Given the description of an element on the screen output the (x, y) to click on. 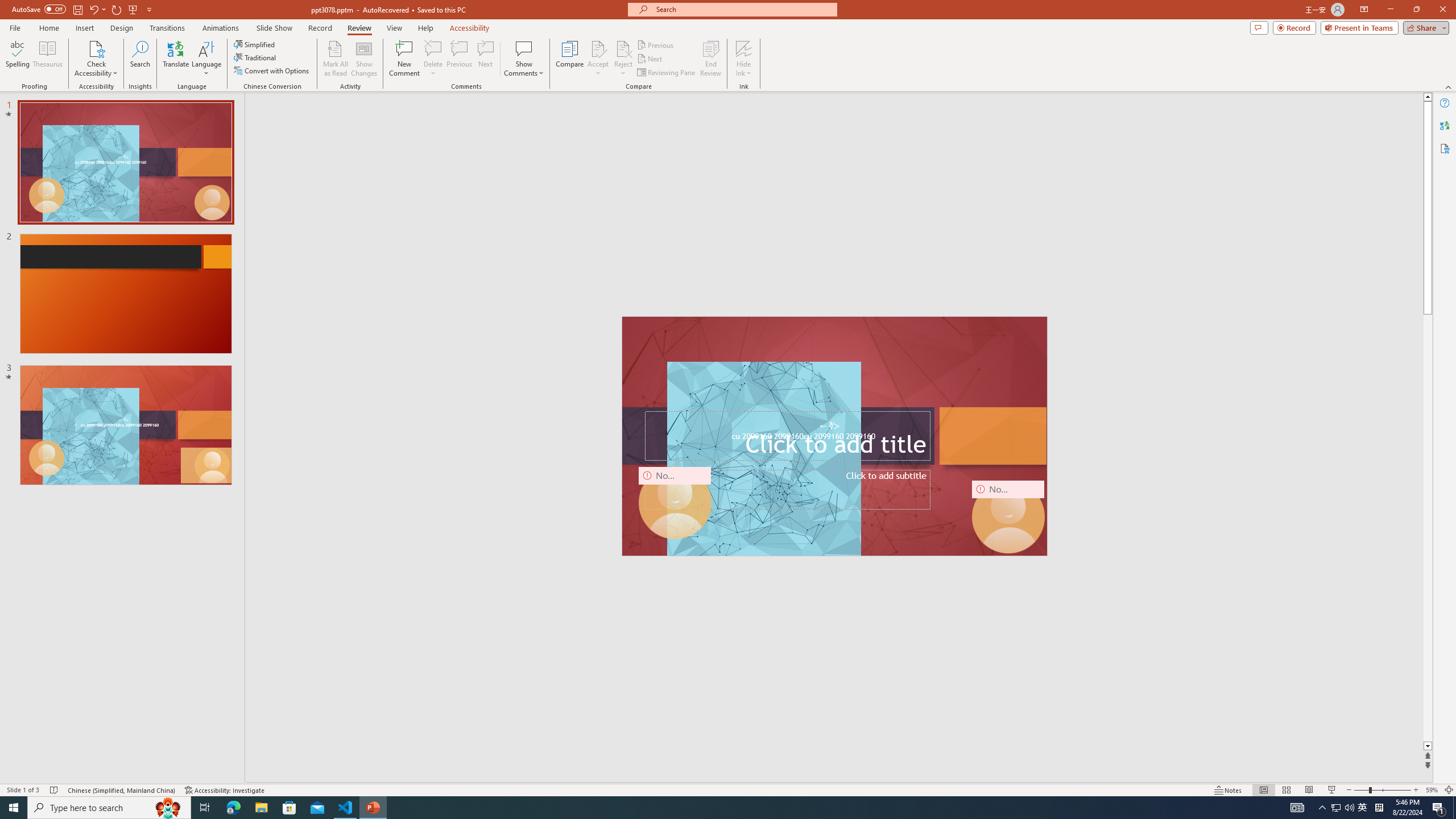
TextBox 61 (833, 437)
Camera 16, No camera detected. (1008, 516)
Reject Change (622, 48)
Zoom 59% (1431, 790)
Convert with Options... (272, 69)
New Comment (403, 58)
